Given the description of an element on the screen output the (x, y) to click on. 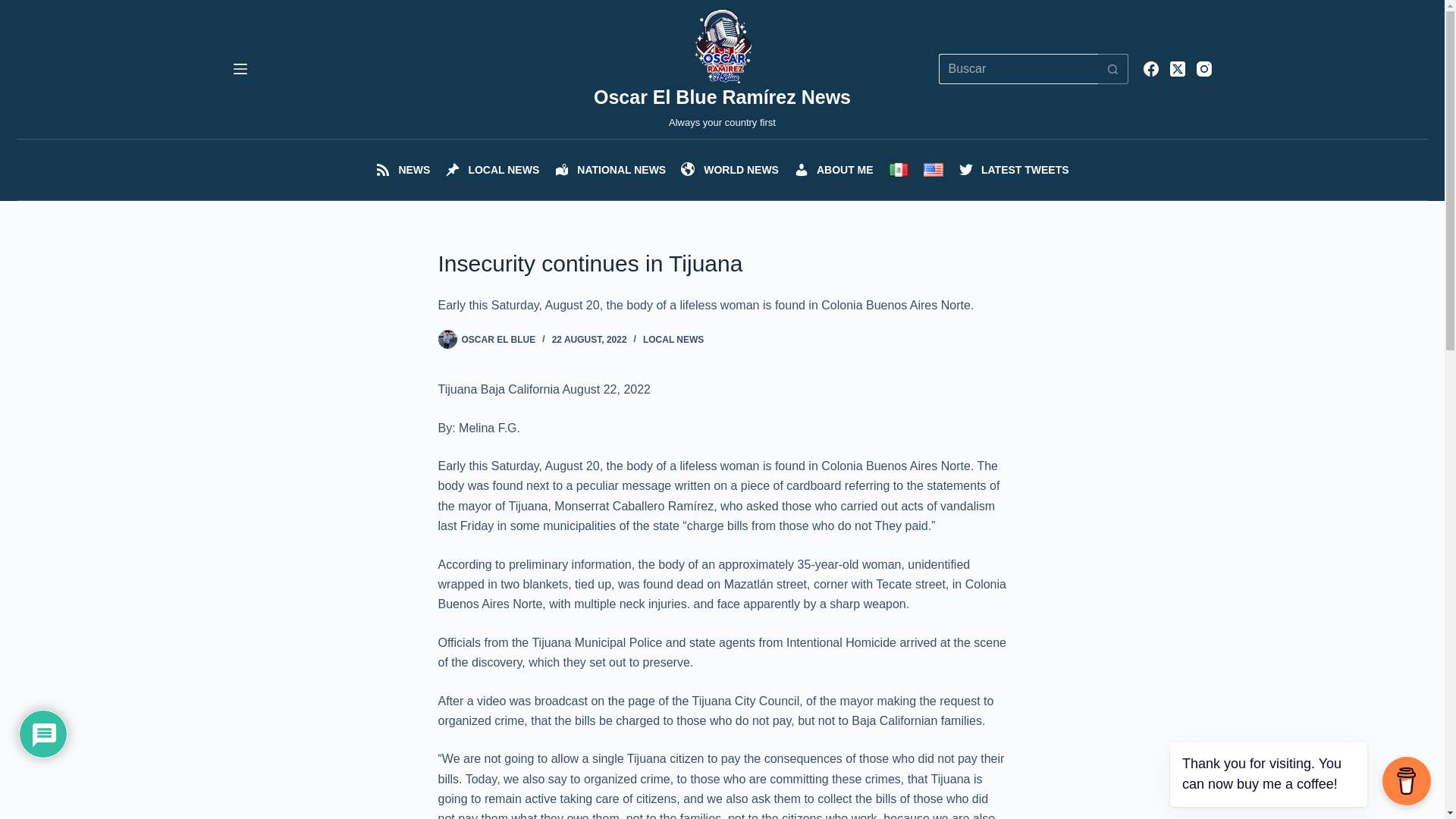
NATIONAL NEWS (609, 169)
Skip to content (15, 7)
Search for... (1018, 69)
ABOUT ME (833, 169)
NEWS (403, 169)
LOCAL NEWS (492, 169)
Posts by Oscar El Blue (498, 339)
LOCAL NEWS (673, 339)
Insecurity continues in Tijuana (722, 263)
WORLD NEWS (729, 169)
OSCAR EL BLUE (498, 339)
LATEST TWEETS (1013, 169)
